Given the description of an element on the screen output the (x, y) to click on. 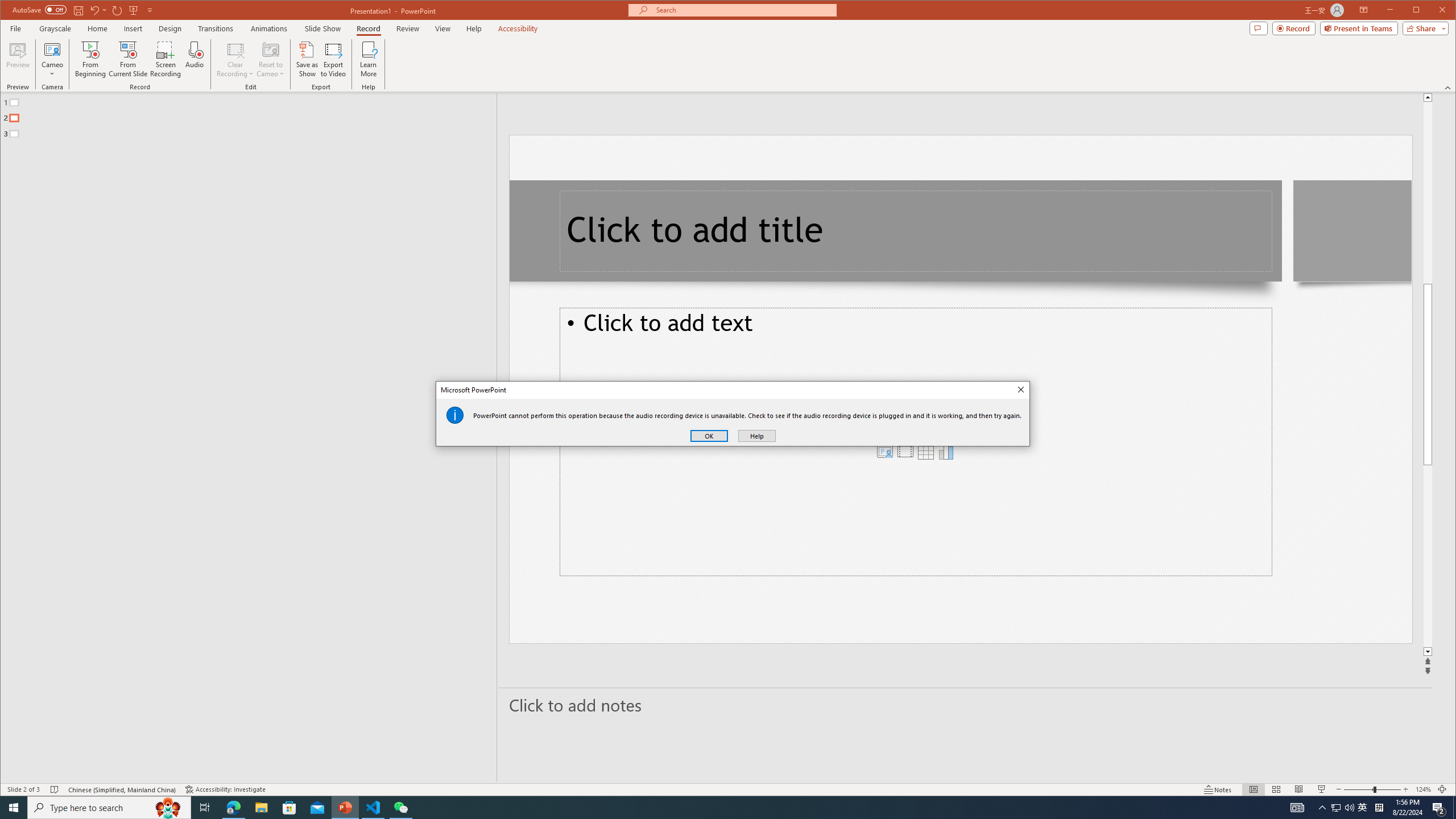
From Current Slide... (127, 59)
From Beginning... (90, 59)
Reset to Cameo (269, 59)
Class: Static (454, 415)
